Given the description of an element on the screen output the (x, y) to click on. 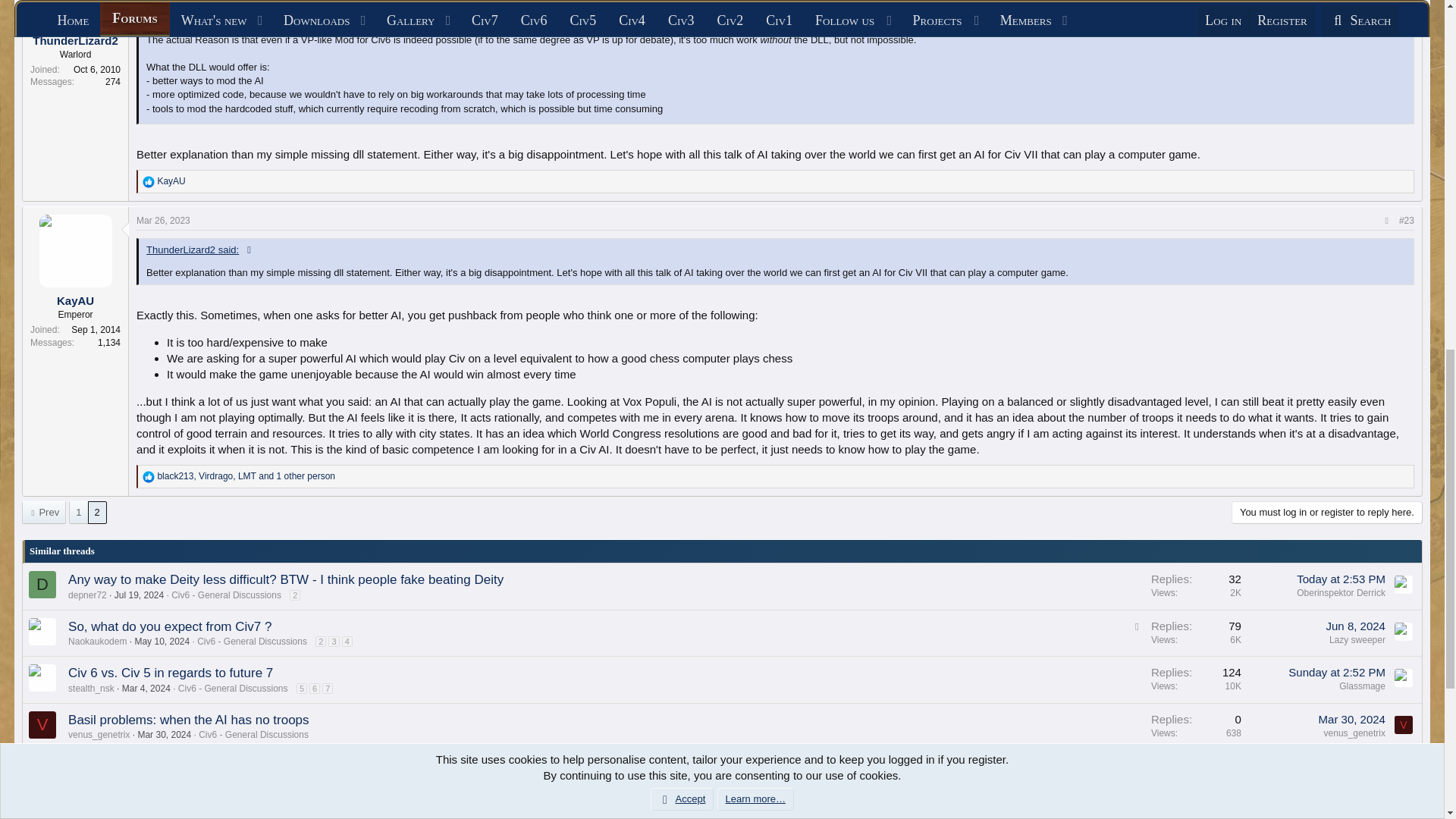
Like (148, 182)
Jul 19, 2024 at 6:03 PM (139, 594)
Like (148, 476)
First message reaction score: 1 (1195, 586)
Mar 26, 2023 at 7:37 AM (163, 220)
Jul 31, 2024 at 2:53 PM (1341, 578)
